Given the description of an element on the screen output the (x, y) to click on. 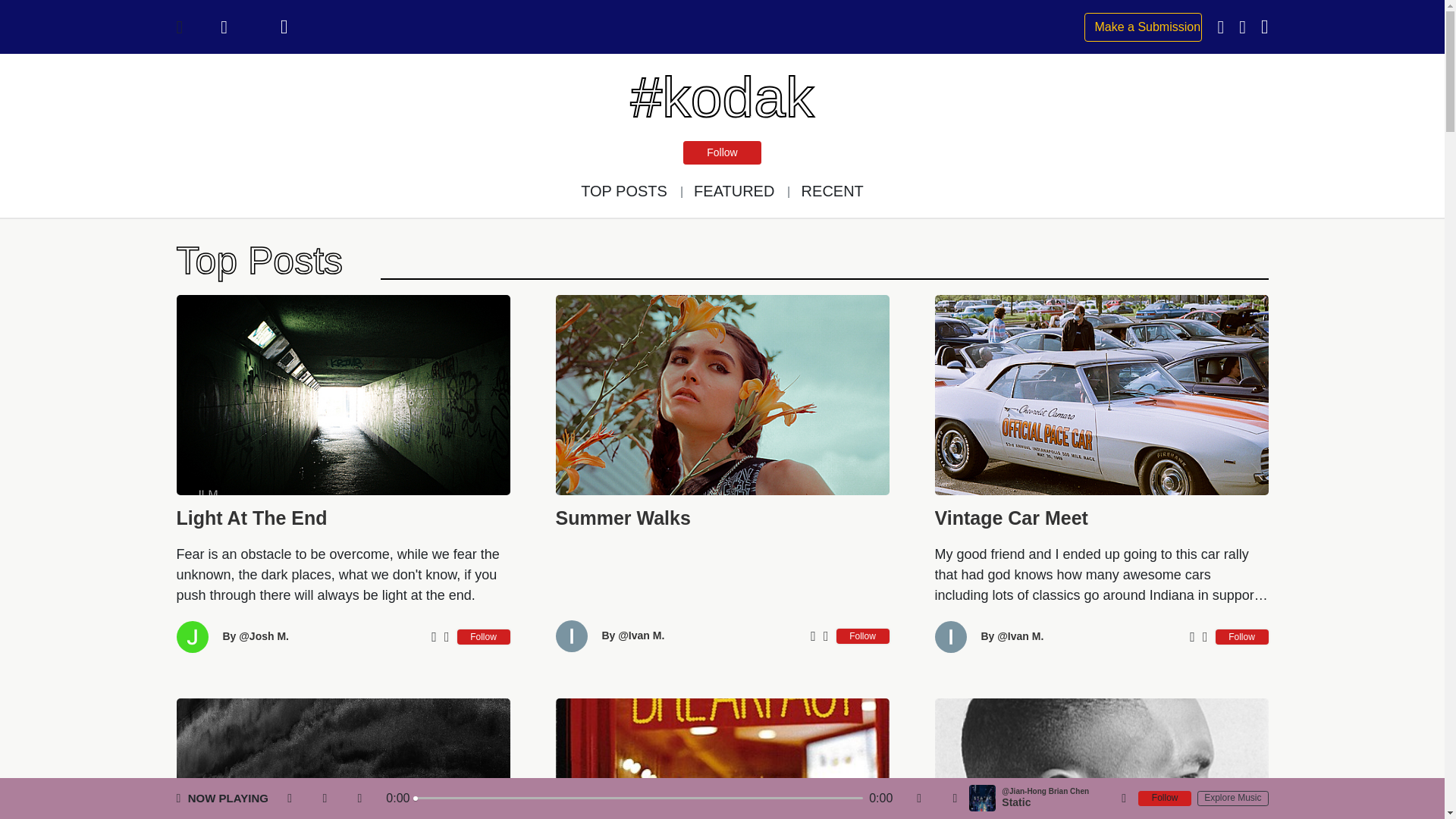
Follow (721, 152)
Summer Walks (721, 394)
TOP POSTS (623, 190)
Light At The End (342, 519)
Summer Walks (721, 519)
Light at the end (342, 519)
Summer Walks (721, 519)
Follow (483, 636)
RECENT (832, 190)
FEATURED (734, 190)
